Given the description of an element on the screen output the (x, y) to click on. 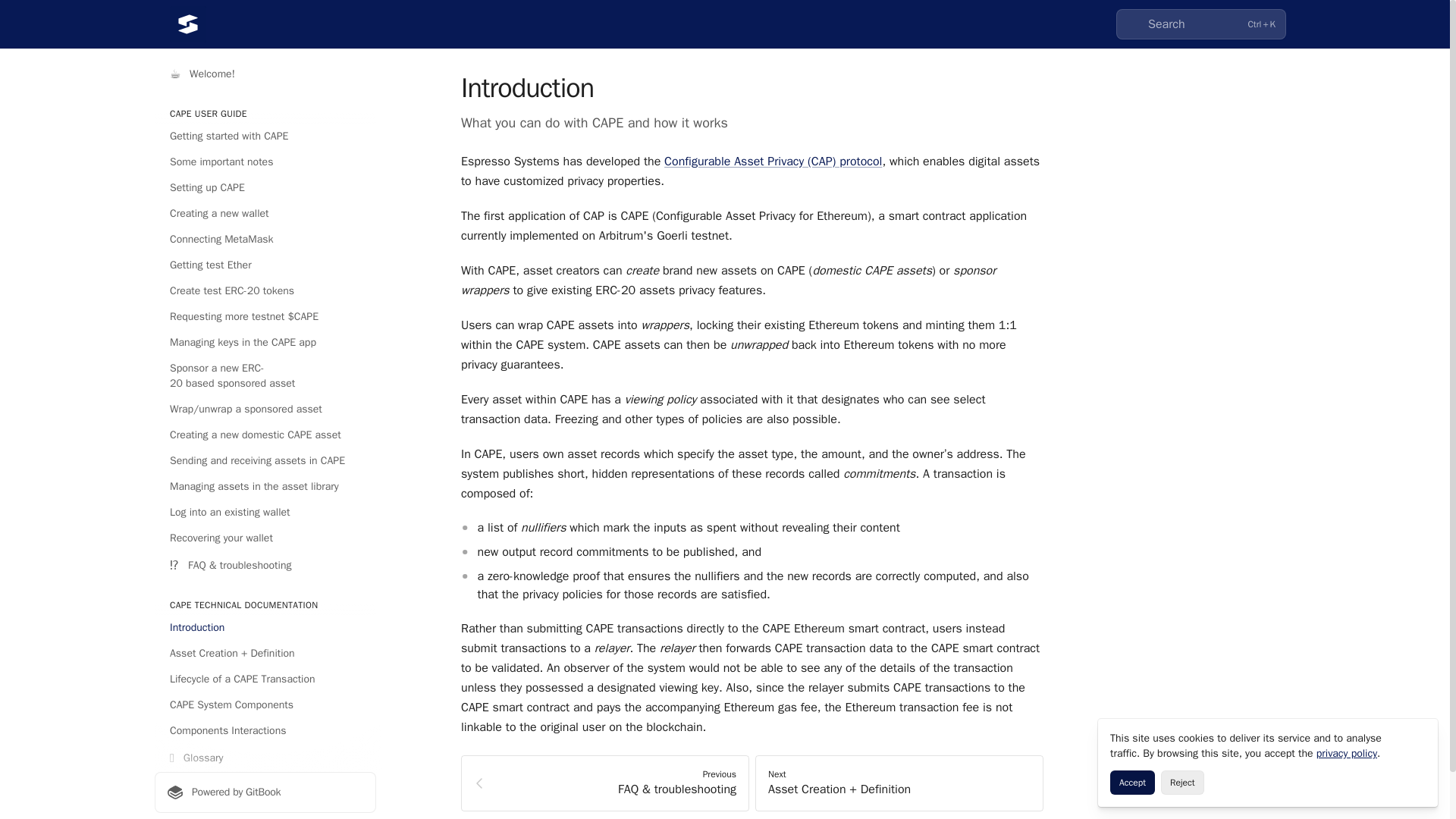
Components Interactions (264, 730)
Managing keys in the CAPE app (264, 342)
Getting test Ether (264, 265)
Some important notes (264, 161)
Getting started with CAPE (264, 136)
Creating a new wallet (264, 213)
CAPE System Components (264, 704)
Log into an existing wallet (264, 512)
Close (1419, 737)
Reject (1182, 782)
Setting up CAPE (264, 187)
Connecting MetaMask (264, 239)
Managing assets in the asset library (264, 486)
privacy policy (1346, 753)
Recovering your wallet (264, 538)
